Given the description of an element on the screen output the (x, y) to click on. 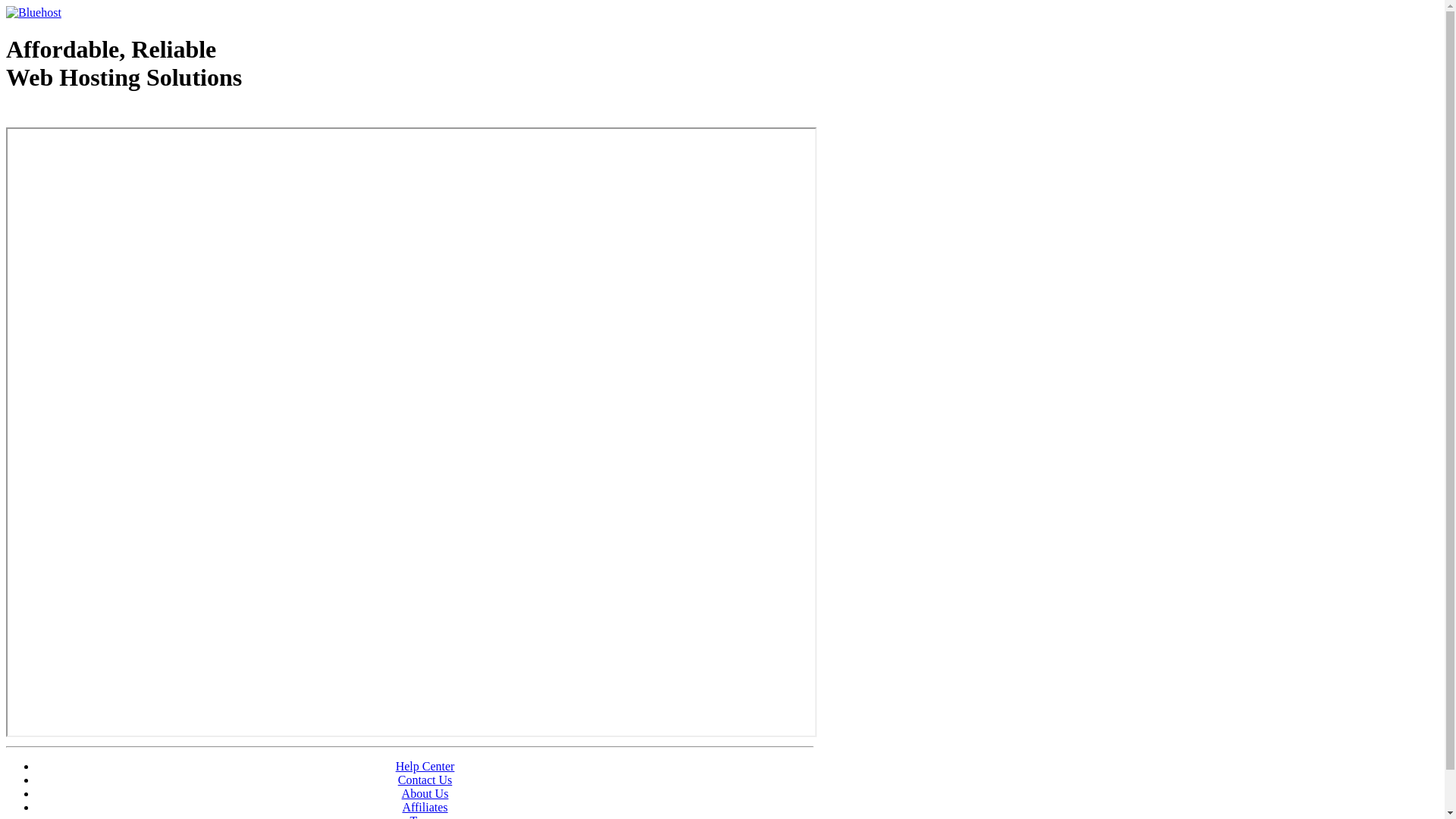
About Us Element type: text (424, 793)
Contact Us Element type: text (425, 779)
Web Hosting - courtesy of www.bluehost.com Element type: text (94, 115)
Help Center Element type: text (425, 765)
Affiliates Element type: text (424, 806)
